Given the description of an element on the screen output the (x, y) to click on. 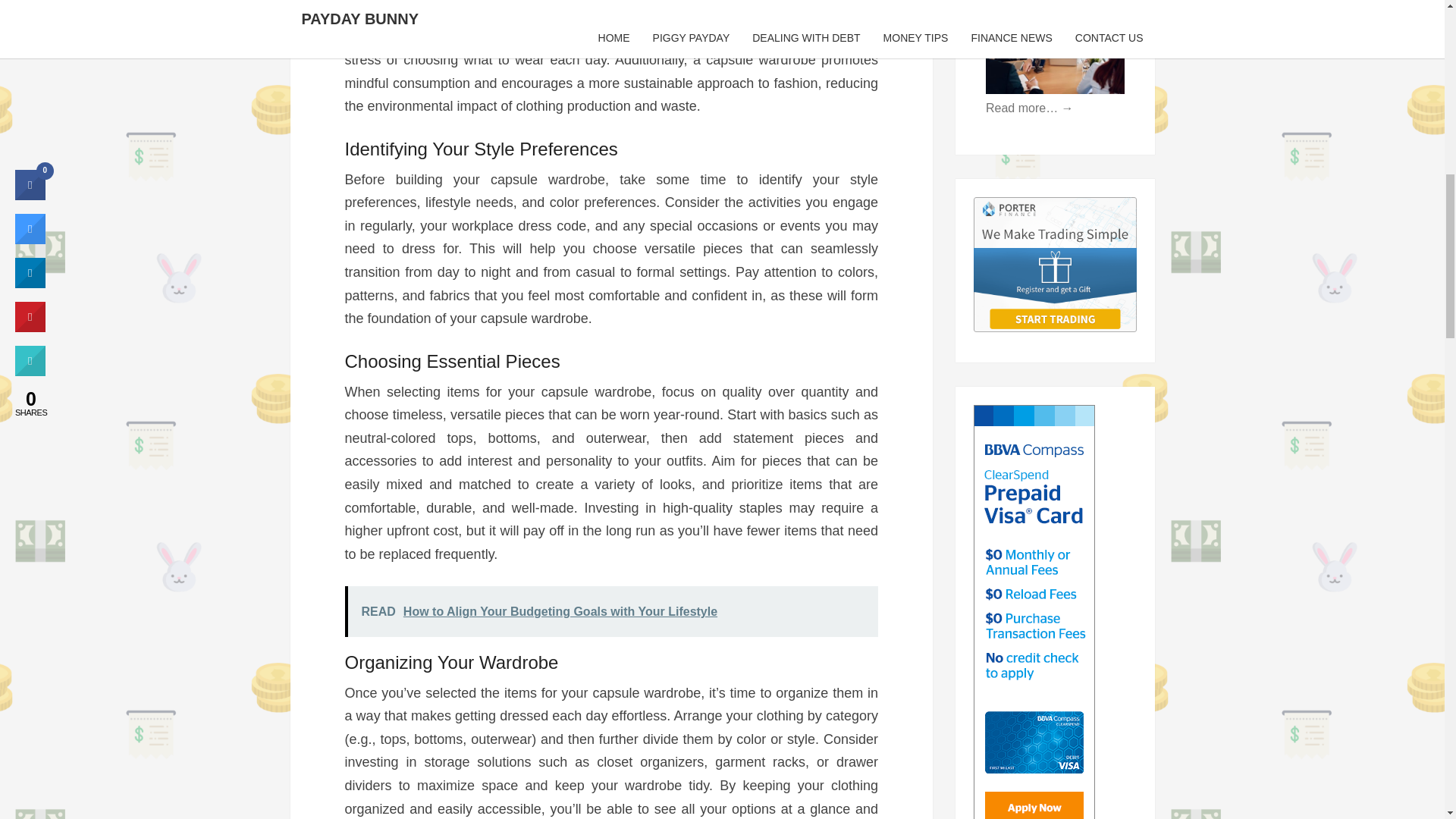
READ  How to Align Your Budgeting Goals with Your Lifestyle (610, 611)
